Given the description of an element on the screen output the (x, y) to click on. 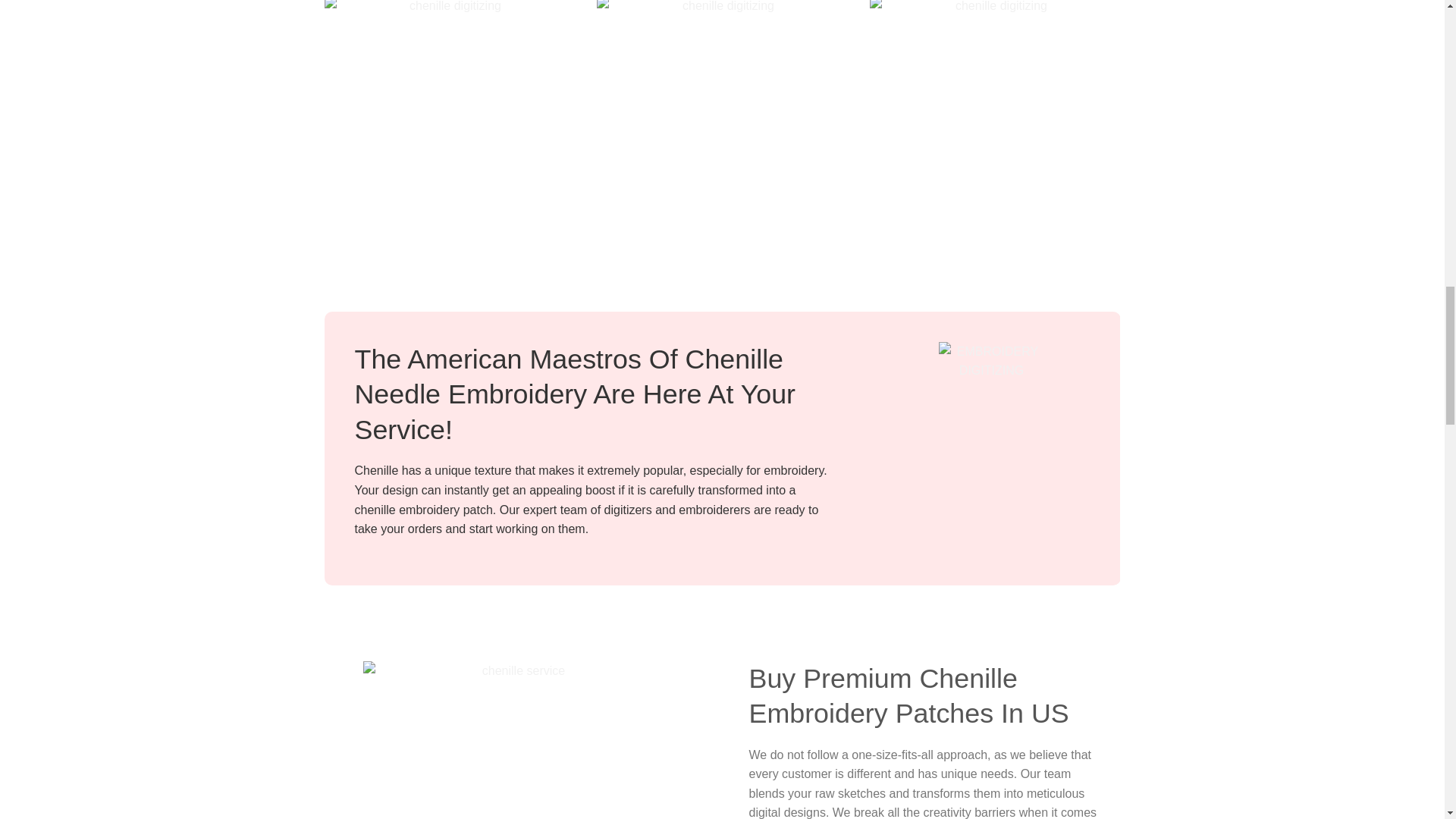
chenille digitizing (721, 109)
chenille digitizing (994, 110)
chenille service (516, 739)
chenille digitizing (449, 110)
EMBROIDERY DIGITIZING (992, 394)
